Given the description of an element on the screen output the (x, y) to click on. 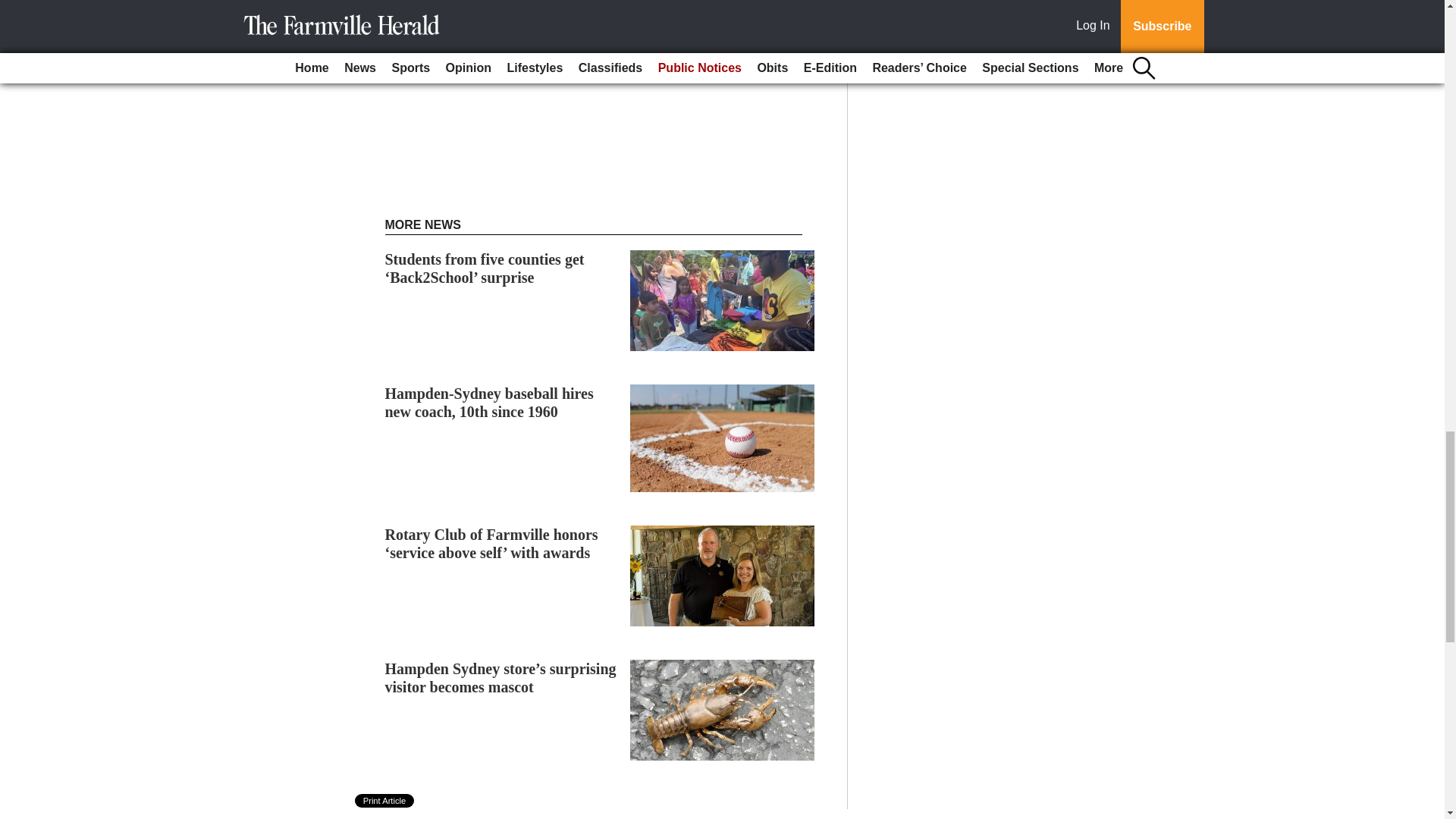
Hampden-Sydney baseball hires new coach, 10th since 1960 (489, 402)
Print Article (384, 800)
Hampden-Sydney baseball hires new coach, 10th since 1960 (489, 402)
